Given the description of an element on the screen output the (x, y) to click on. 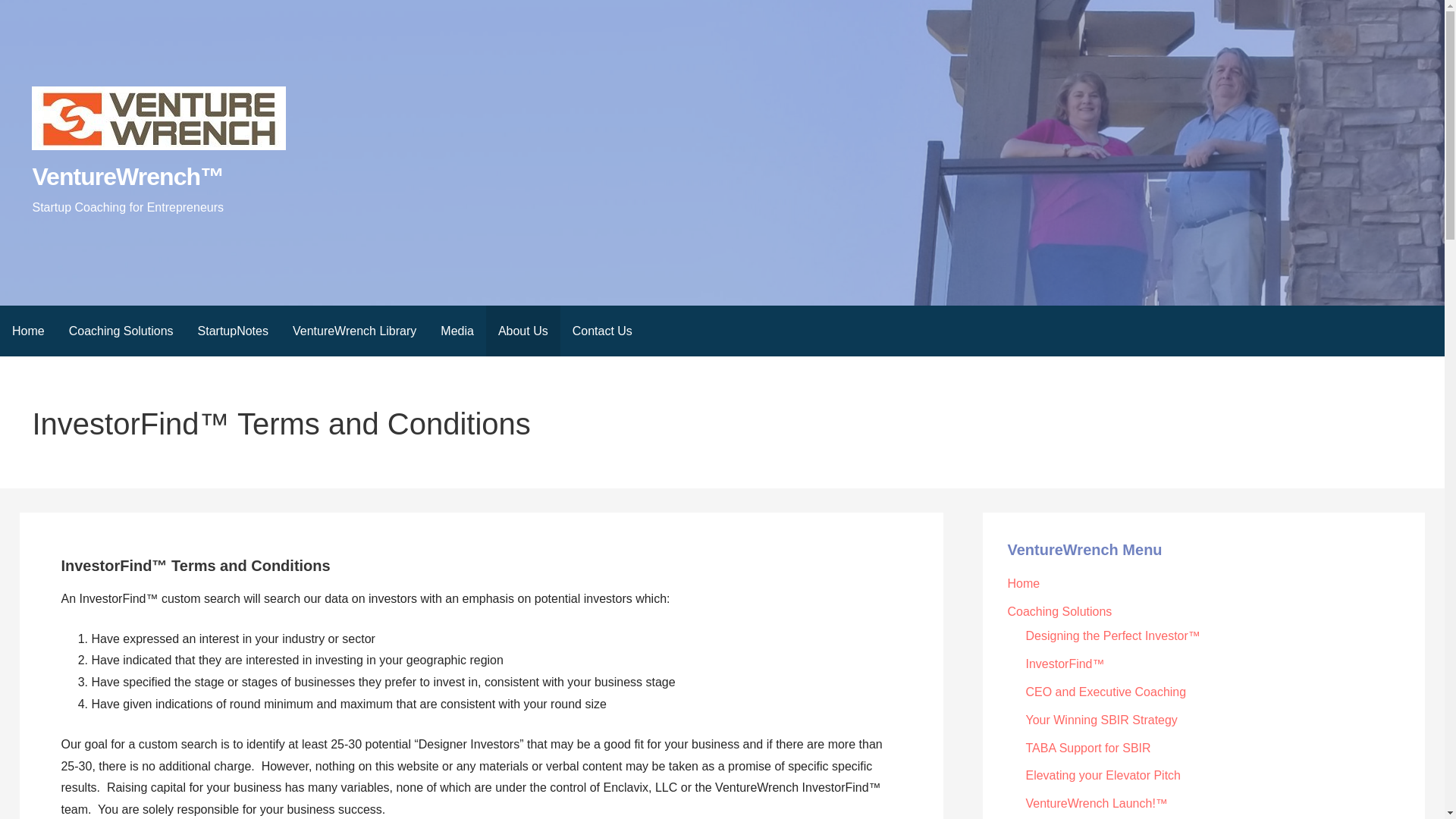
About Us (523, 330)
TABA Support for SBIR (1087, 748)
StartupNotes (233, 330)
VentureWrench Blog (28, 330)
Coaching Solutions (1059, 611)
Home (1023, 583)
Contact Us (602, 330)
Coaching Solutions (121, 330)
VentureWrench Blog (1023, 583)
Elevating your Elevator Pitch (1102, 775)
Your Winning SBIR Strategy (1100, 719)
VentureWrench Library (354, 330)
Home (28, 330)
CEO and Executive Coaching (1105, 691)
Media (457, 330)
